Given the description of an element on the screen output the (x, y) to click on. 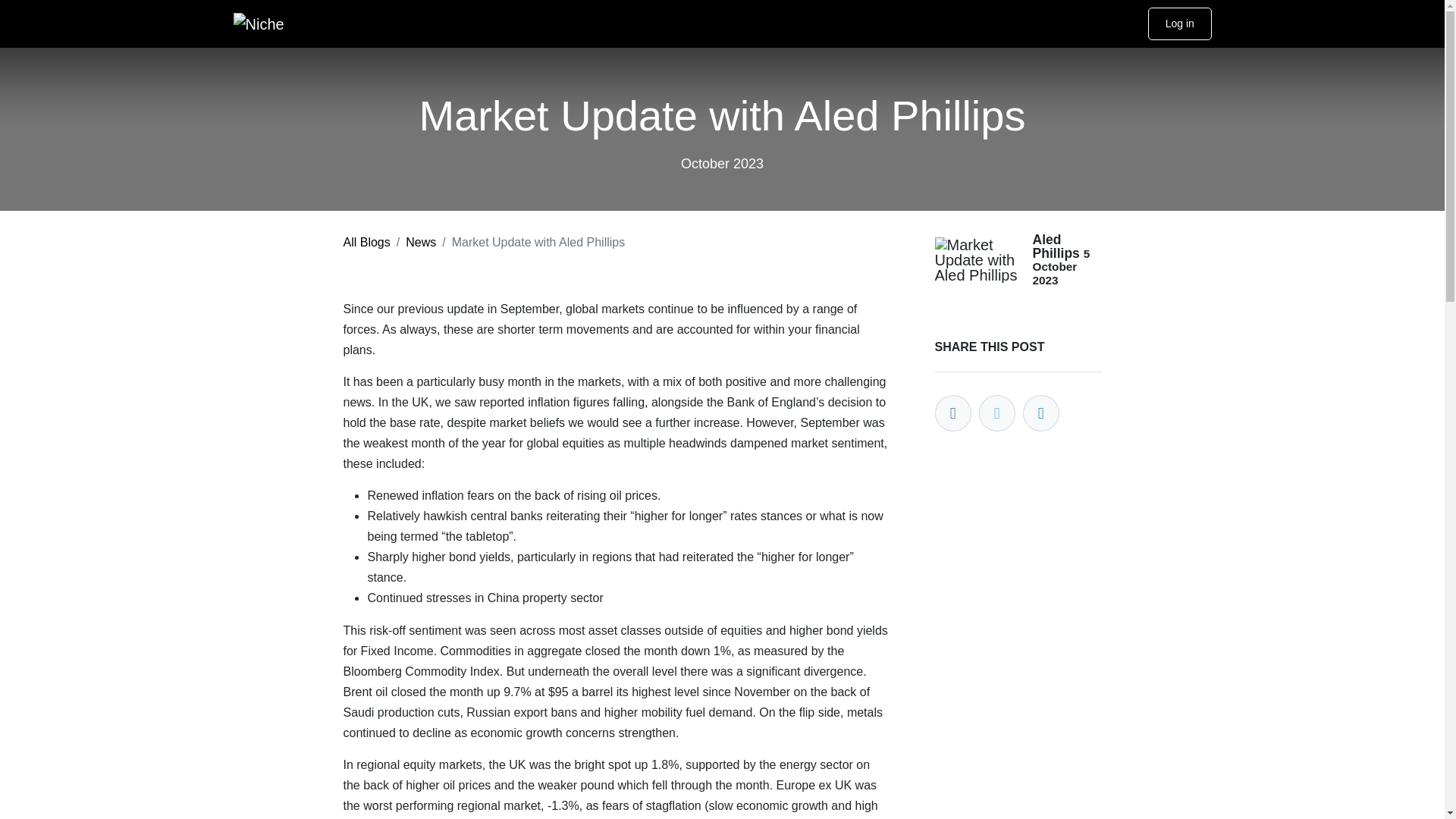
Niche Private Clients (259, 23)
Log in (1179, 23)
Share on Facebook (952, 412)
News (420, 241)
All Blogs (366, 241)
Share on Twitter (996, 412)
Share on LinkedIn (1040, 412)
